Given the description of an element on the screen output the (x, y) to click on. 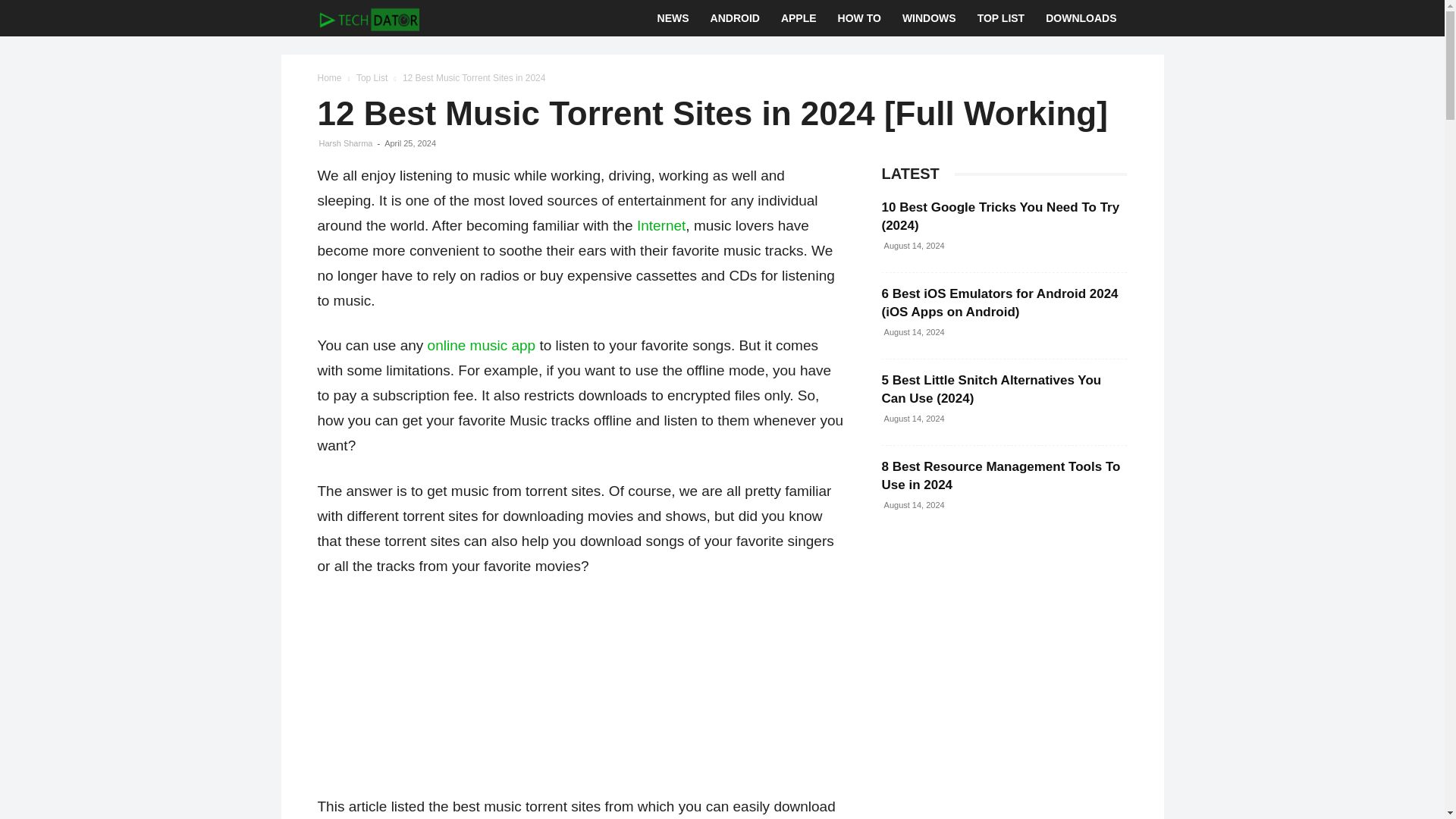
TOP LIST (1000, 18)
NEWS (673, 18)
ANDROID (735, 18)
Harsh Sharma (345, 143)
TechDator (368, 18)
Top List (371, 77)
online music app (481, 344)
HOW TO (859, 18)
View all posts in Top List (371, 77)
DOWNLOADS (1080, 18)
